Given the description of an element on the screen output the (x, y) to click on. 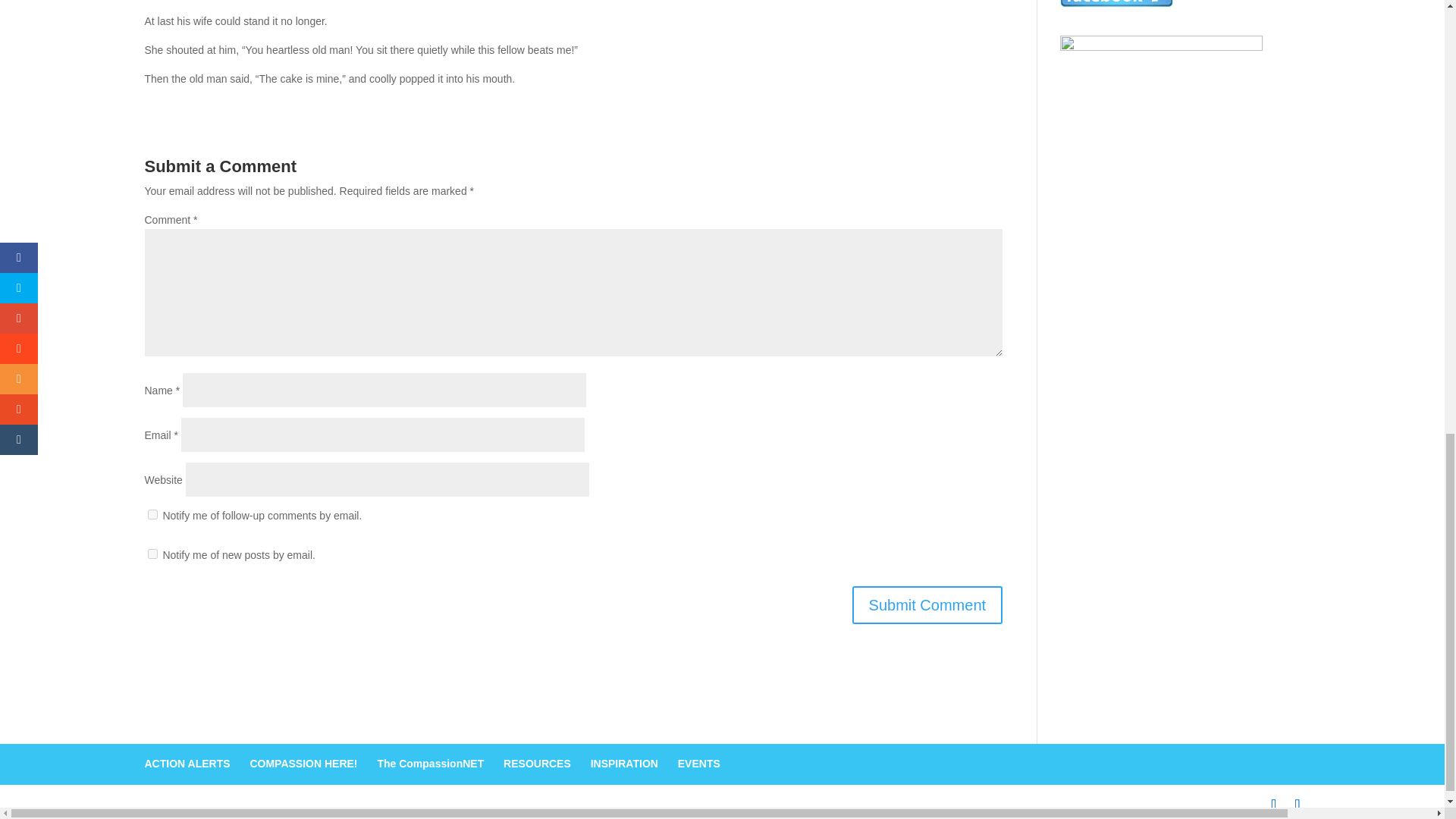
subscribe (152, 514)
Submit Comment (927, 605)
subscribe (152, 553)
